Given the description of an element on the screen output the (x, y) to click on. 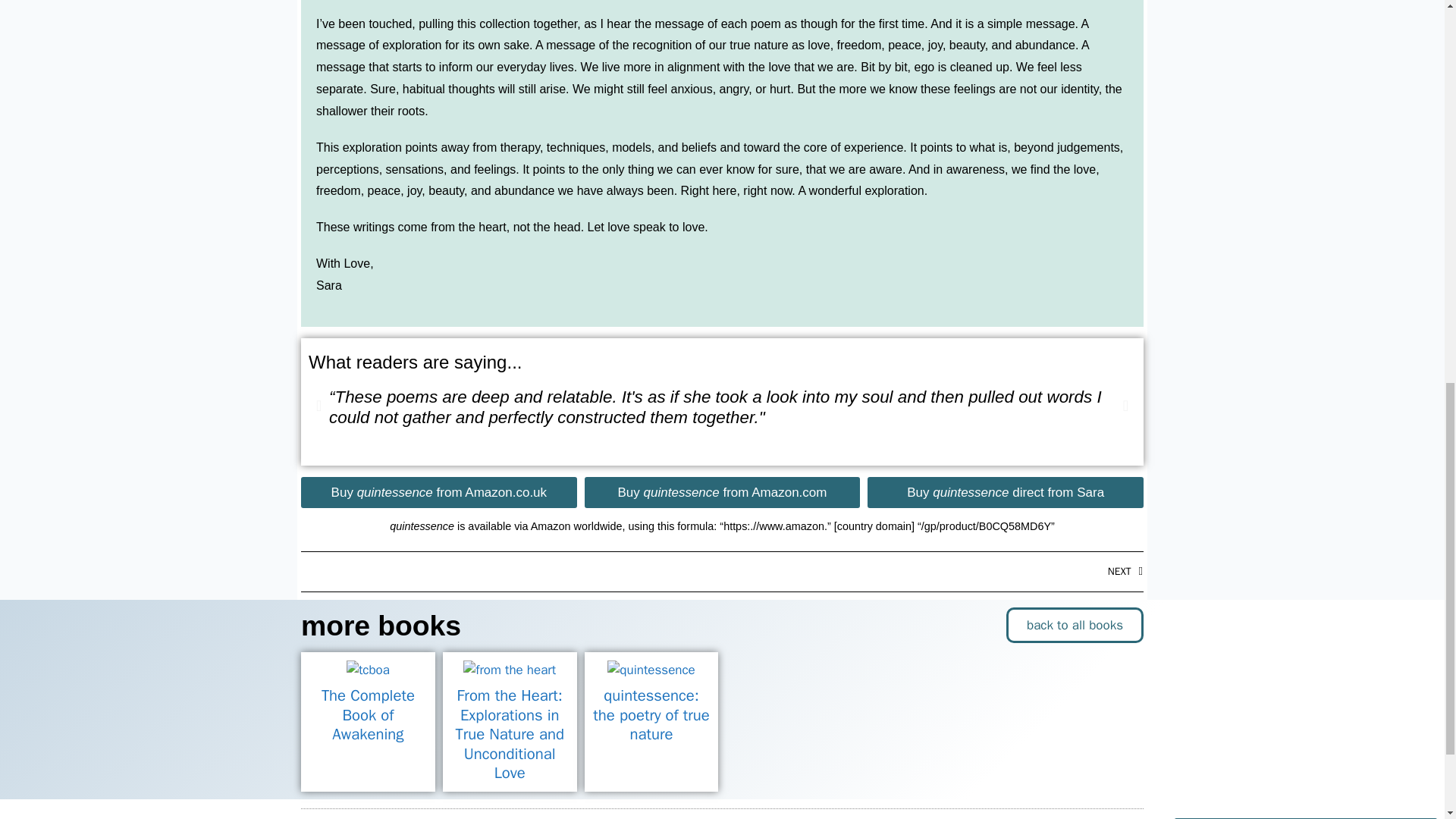
NEXT (932, 570)
Buy quintessence from Amazon.com (722, 491)
The Complete Book of Awakening (368, 721)
quintessence (650, 670)
Buy quintessence direct from Sara (1004, 491)
quintessence: the poetry of true nature (652, 721)
Buy quintessence from Amazon.co.uk (438, 491)
from the heart (509, 670)
back to all books (1074, 624)
